Given the description of an element on the screen output the (x, y) to click on. 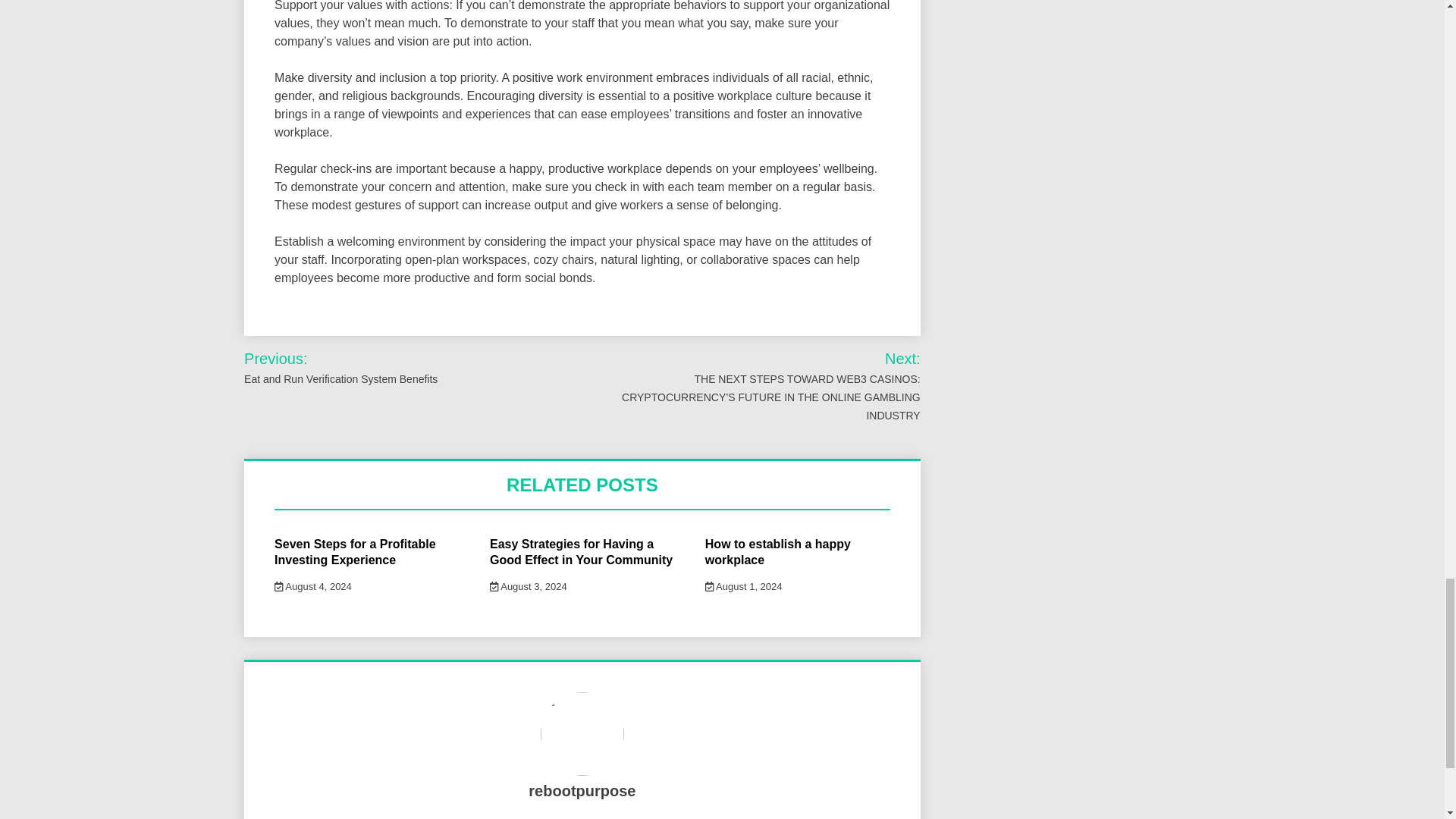
August 1, 2024 (743, 586)
How to establish a happy workplace (777, 551)
August 3, 2024 (528, 586)
Previous: Eat and Run Verification System Benefits (373, 367)
Seven Steps for a Profitable Investing Experience (355, 551)
Easy Strategies for Having a Good Effect in Your Community (580, 551)
August 4, 2024 (313, 586)
